Given the description of an element on the screen output the (x, y) to click on. 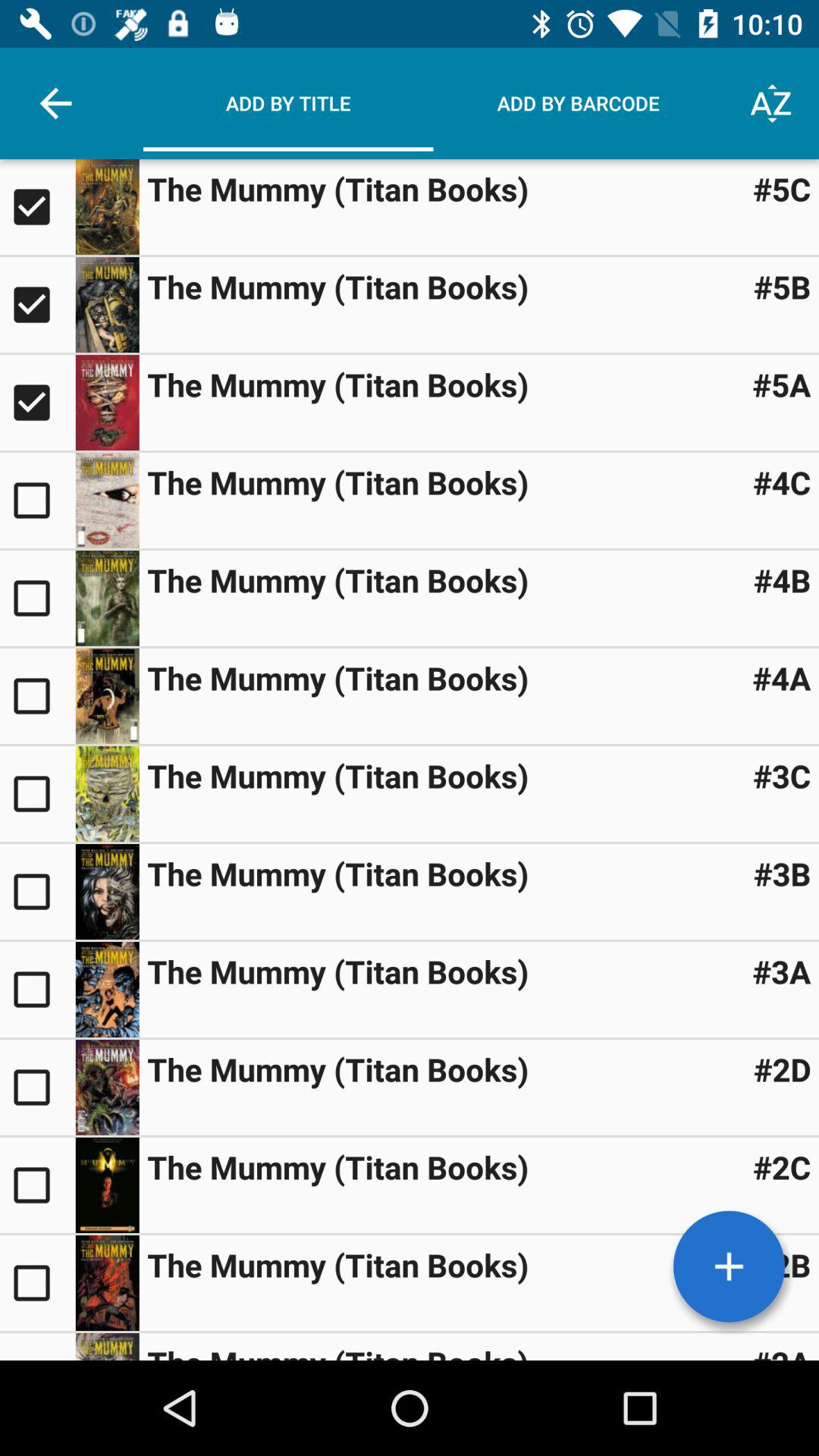
view image (107, 1282)
